Given the description of an element on the screen output the (x, y) to click on. 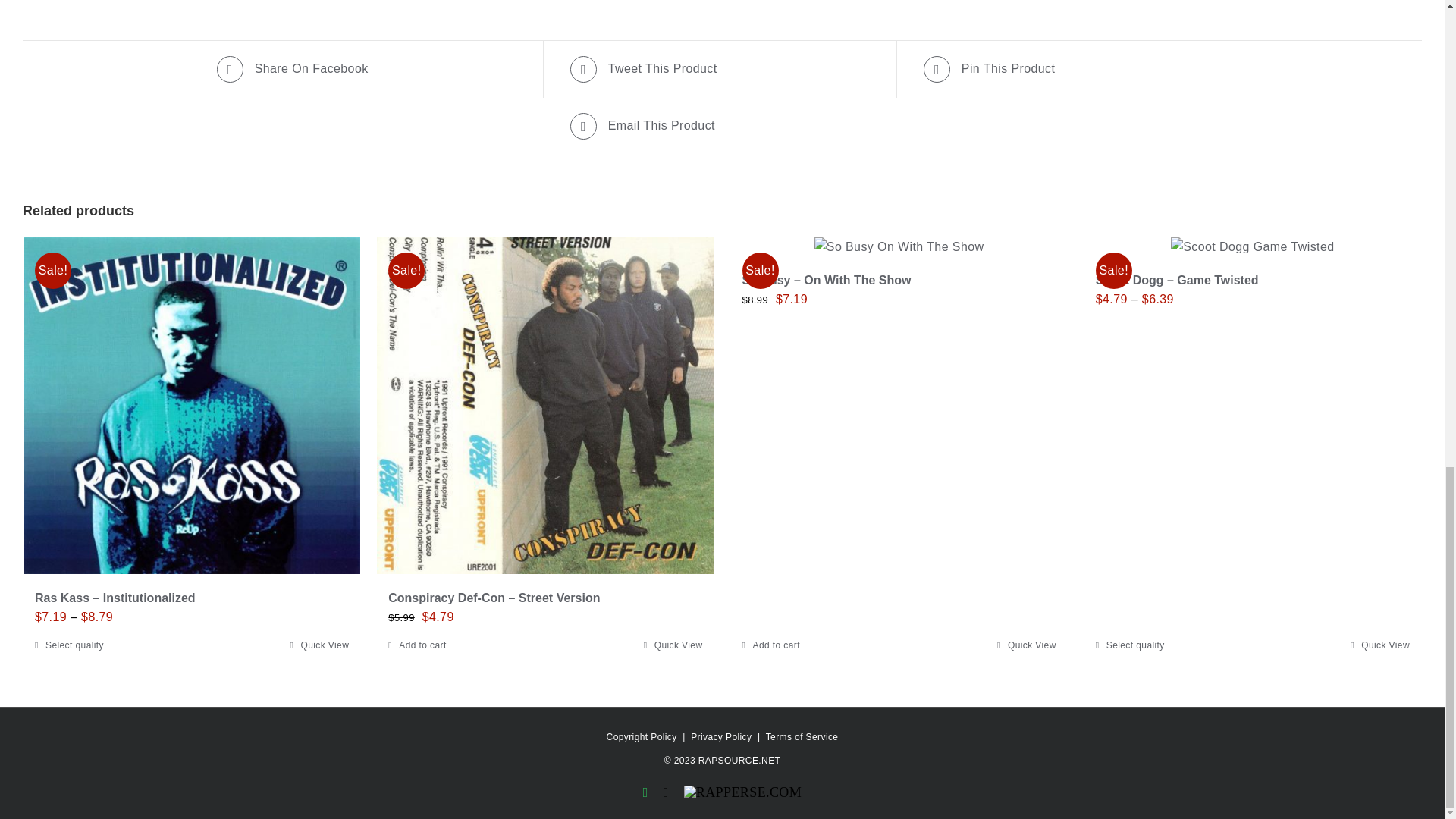
Tweet This Product (721, 69)
Sale! (545, 405)
Quick View (319, 644)
Share On Facebook (367, 69)
Add to cart (416, 644)
Pin This Product (1075, 69)
Add to cart (770, 644)
Sale! (191, 405)
Select quality (68, 644)
Email This Product (722, 126)
